Given the description of an element on the screen output the (x, y) to click on. 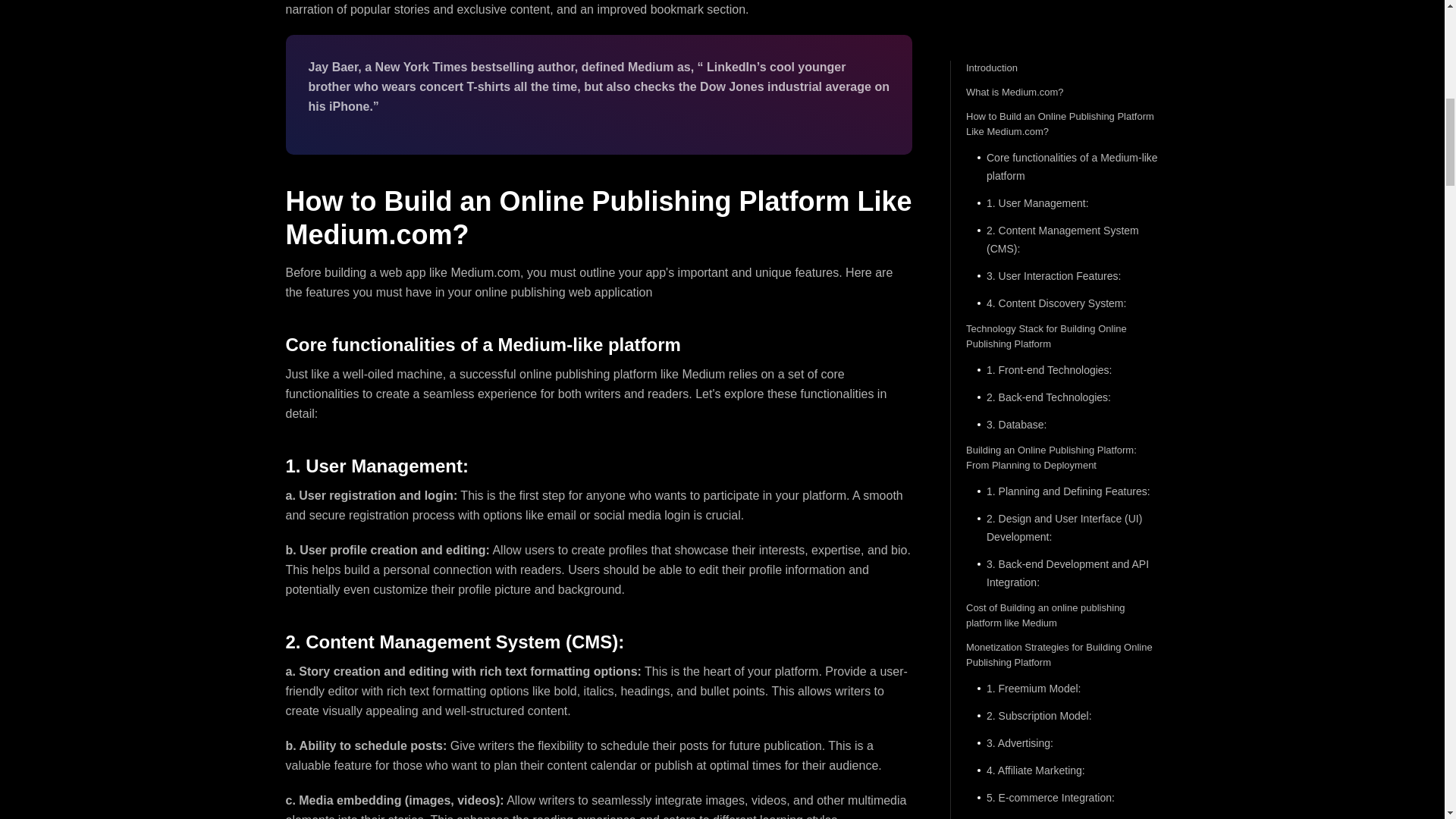
2. Subscription Model: (1062, 117)
Choosing the Right Strategy: (1062, 227)
Cost of Building an online publishing platform like Medium (1062, 18)
4. Affiliate Marketing: (1062, 172)
1. Freemium Model: (1062, 90)
5. E-commerce Integration: (1062, 199)
Find out How DhiWise can Help You (1062, 253)
3. Advertising: (1062, 145)
